Given the description of an element on the screen output the (x, y) to click on. 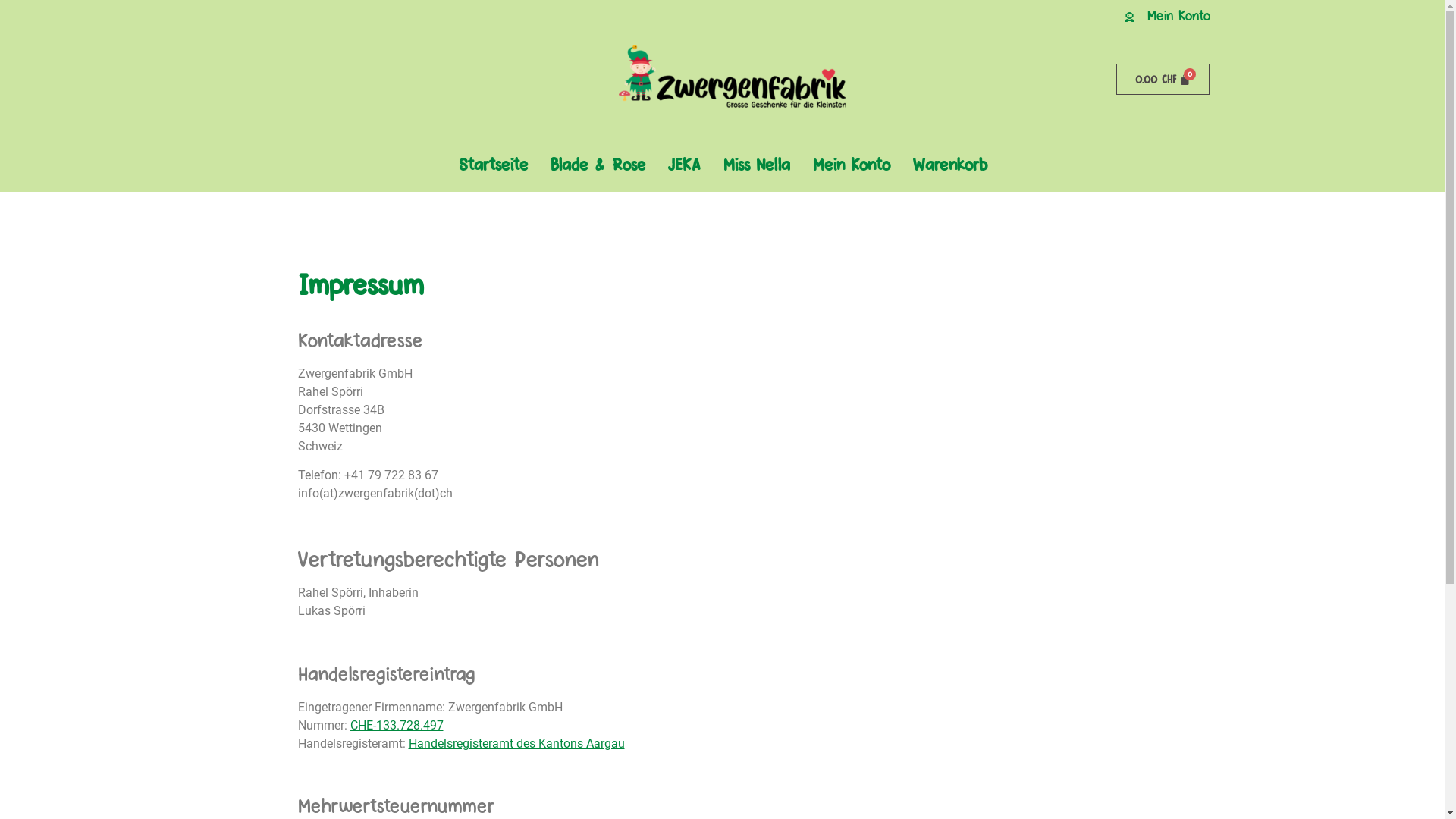
Startseite Element type: text (493, 163)
JEKA Element type: text (684, 163)
Handelsregisteramt des Kantons Aargau Element type: text (515, 743)
Blade & Rose Element type: text (597, 163)
info(at)zwergenfabrik(dot)ch Element type: text (374, 493)
Mein Konto Element type: text (1178, 14)
Warenkorb Element type: text (949, 163)
0.00 CHF Element type: text (1163, 78)
  Element type: text (298, 521)
E-Mail Service Element type: hover (298, 521)
Miss Nella Element type: text (756, 163)
CHE-133.728.497 Element type: text (396, 725)
Mein Konto Element type: text (851, 163)
